Given the description of an element on the screen output the (x, y) to click on. 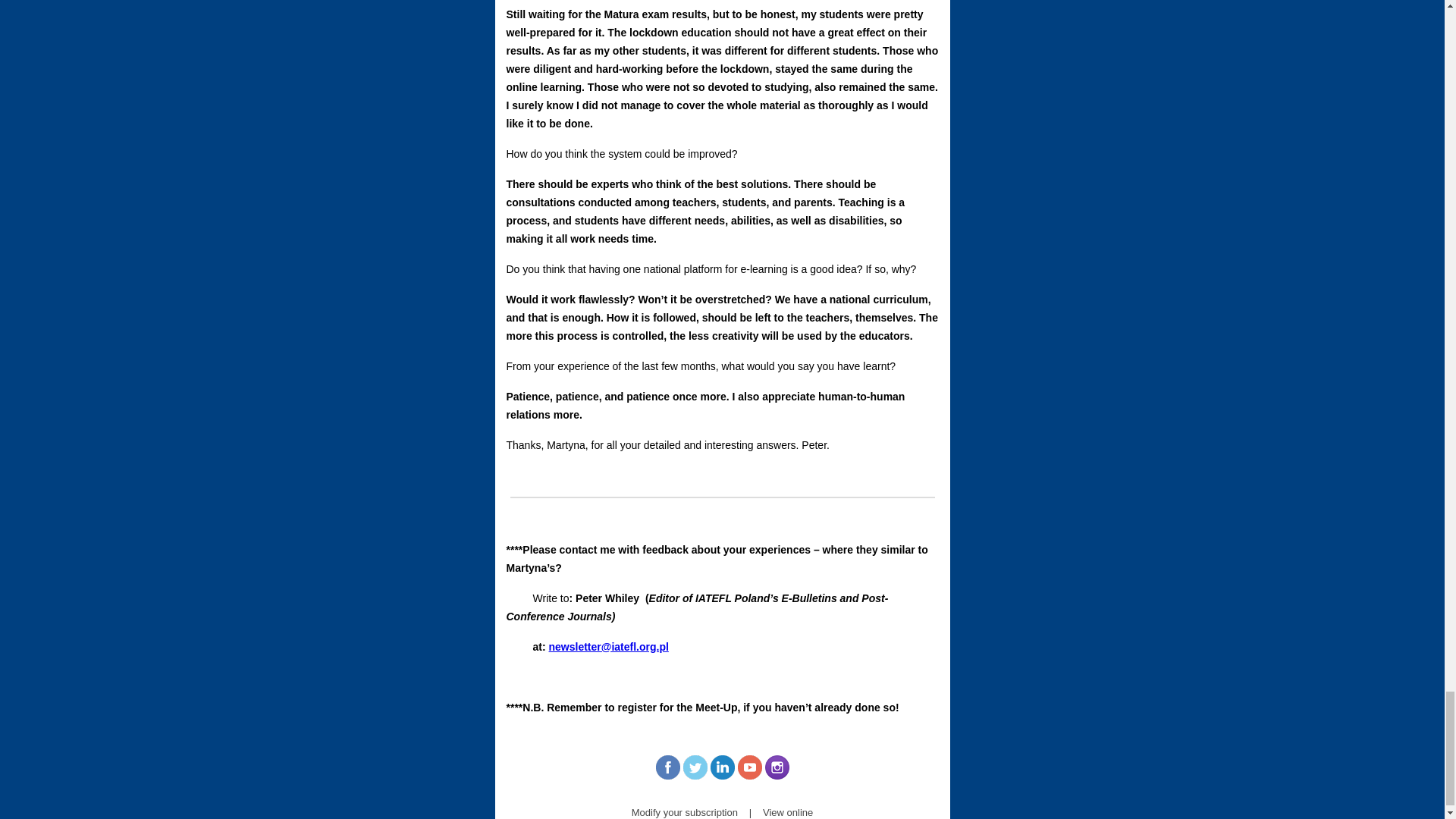
Modify your subscription (684, 812)
View online (787, 812)
